Given the description of an element on the screen output the (x, y) to click on. 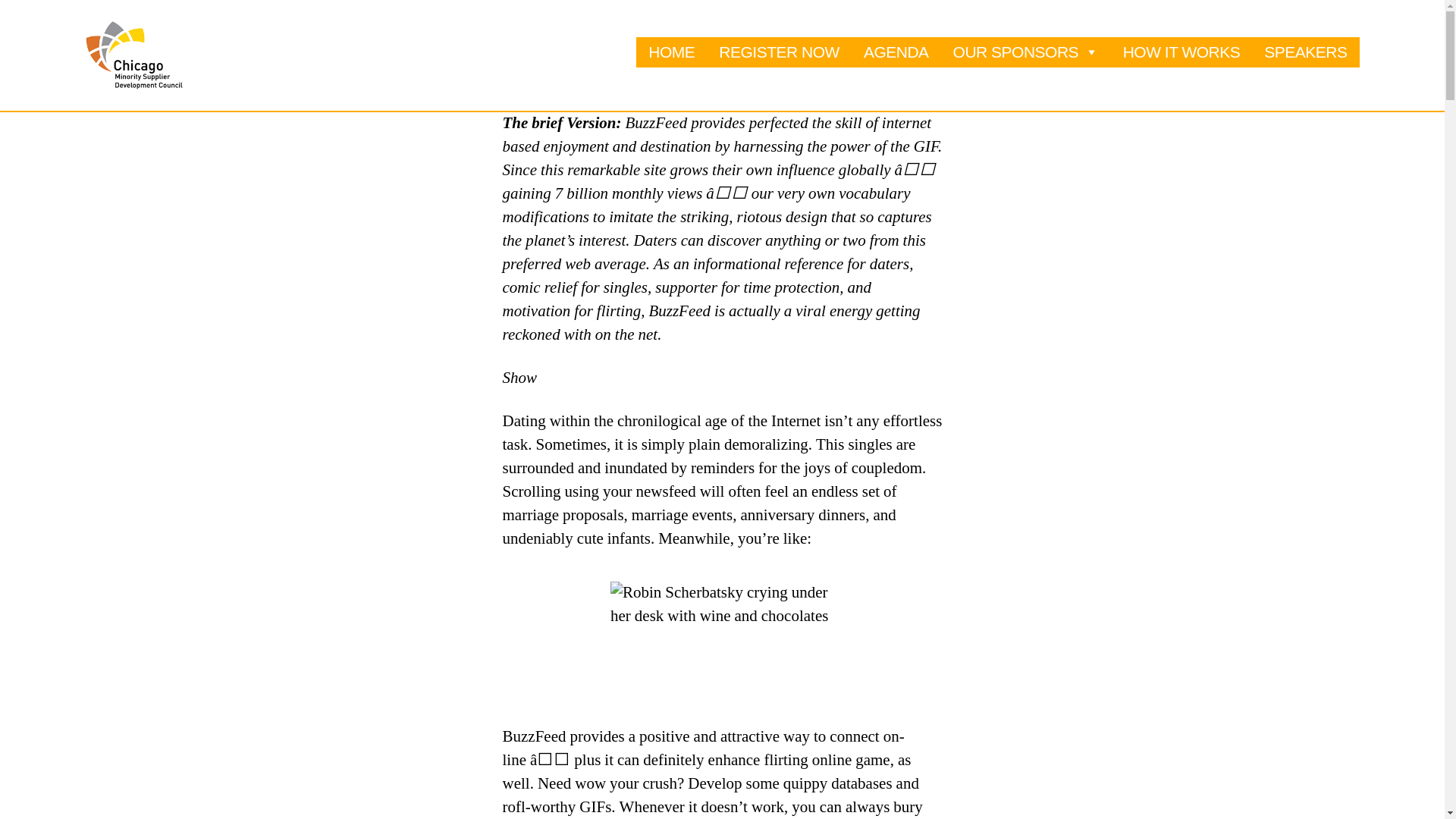
OUR SPONSORS (1025, 51)
SPEAKERS (1305, 51)
REGISTER NOW (778, 51)
AGENDA (895, 51)
HOME (671, 51)
HOW IT WORKS (1181, 51)
